Given the description of an element on the screen output the (x, y) to click on. 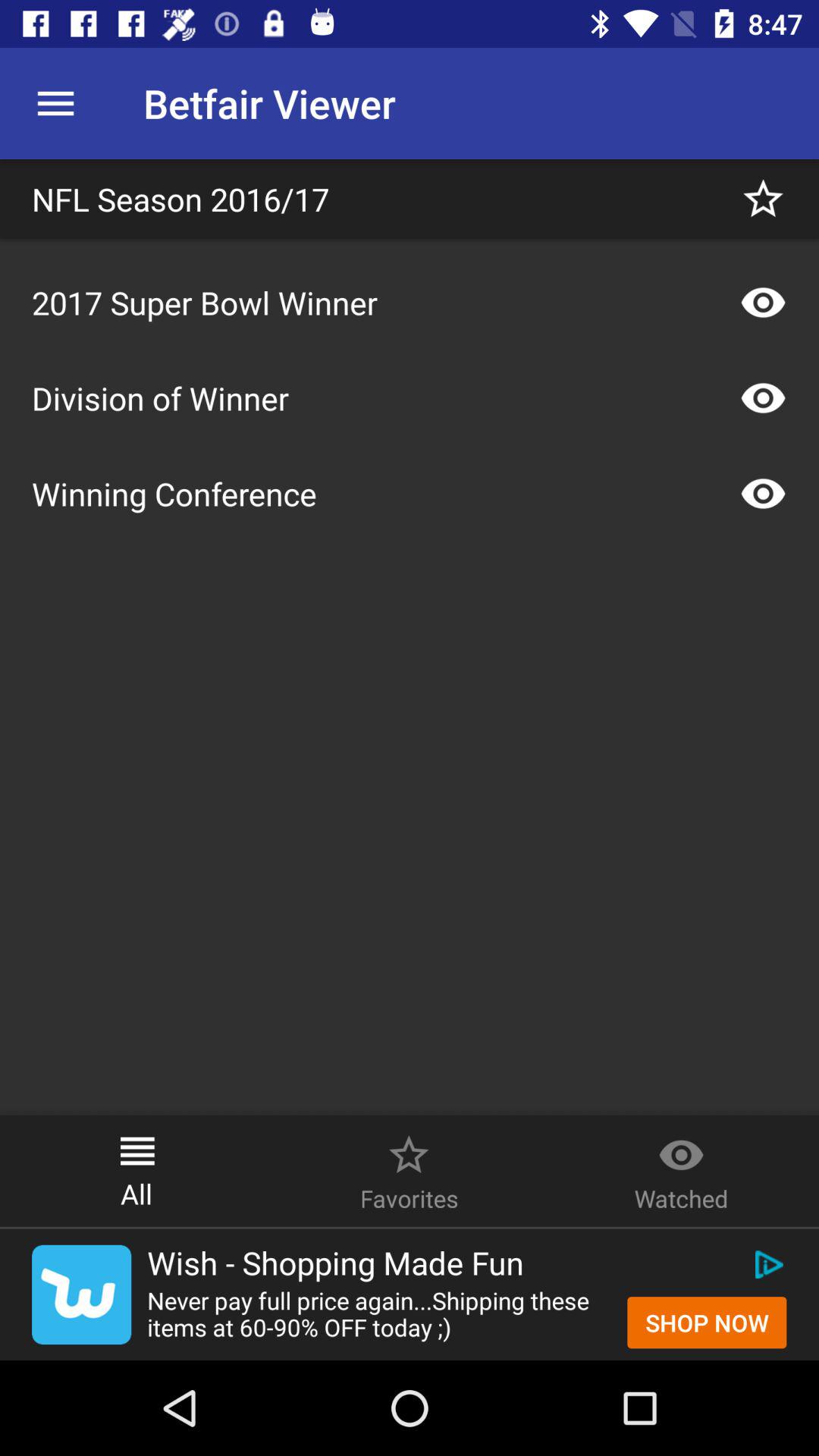
scroll until the never pay full icon (379, 1314)
